Given the description of an element on the screen output the (x, y) to click on. 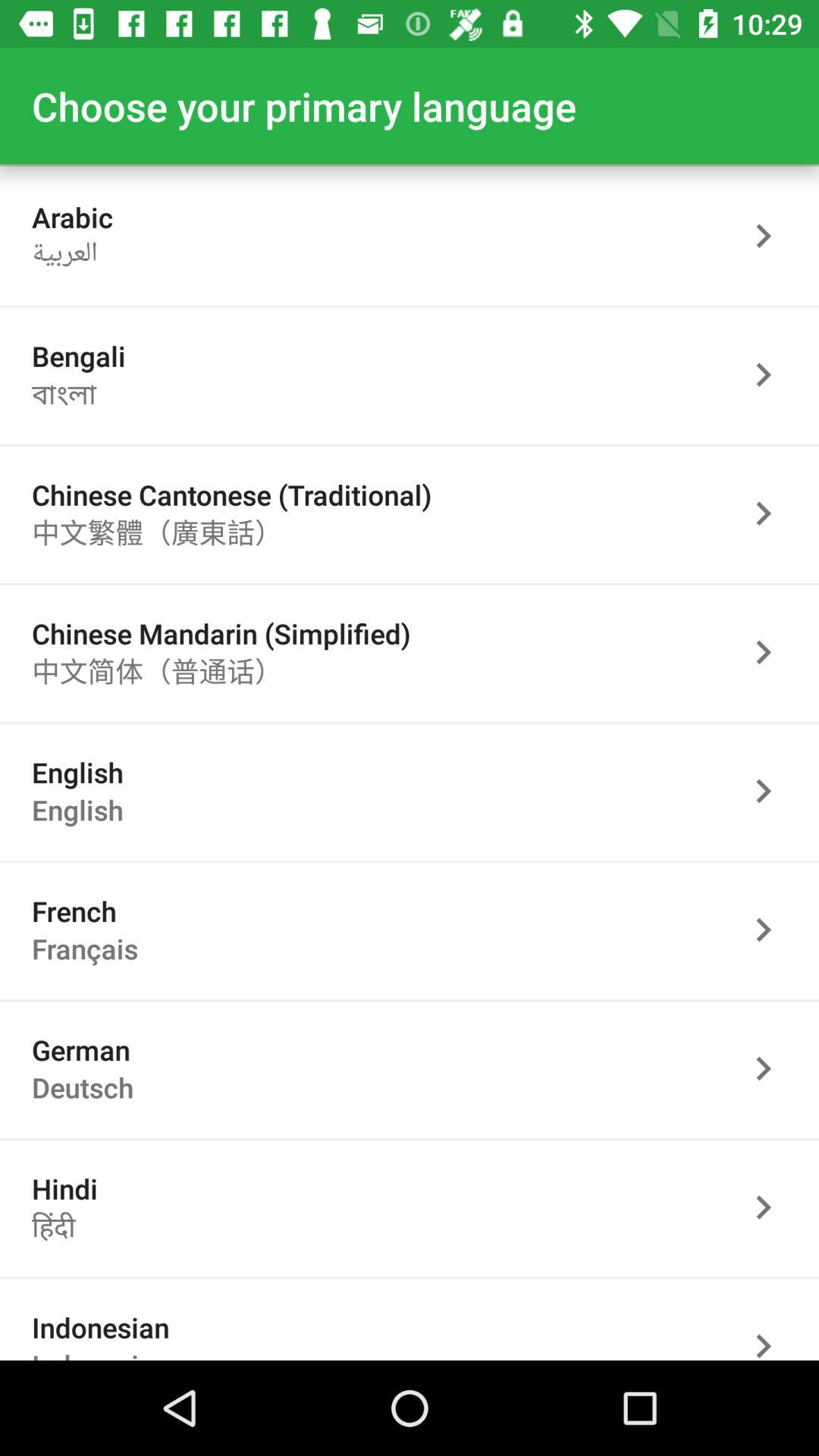
hindi language (771, 1207)
